Given the description of an element on the screen output the (x, y) to click on. 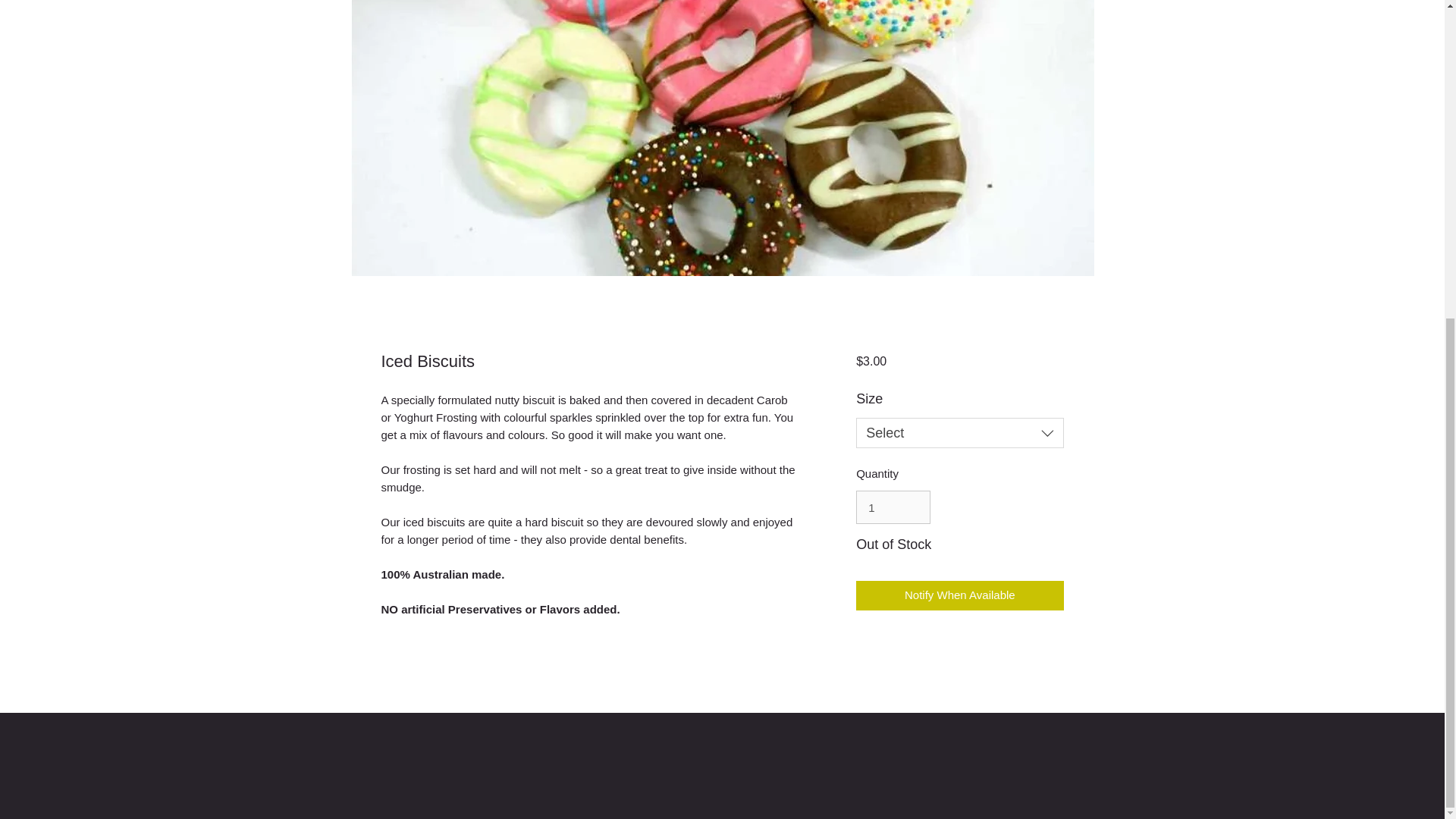
Notify When Available (959, 595)
Select (959, 432)
1 (893, 507)
